Given the description of an element on the screen output the (x, y) to click on. 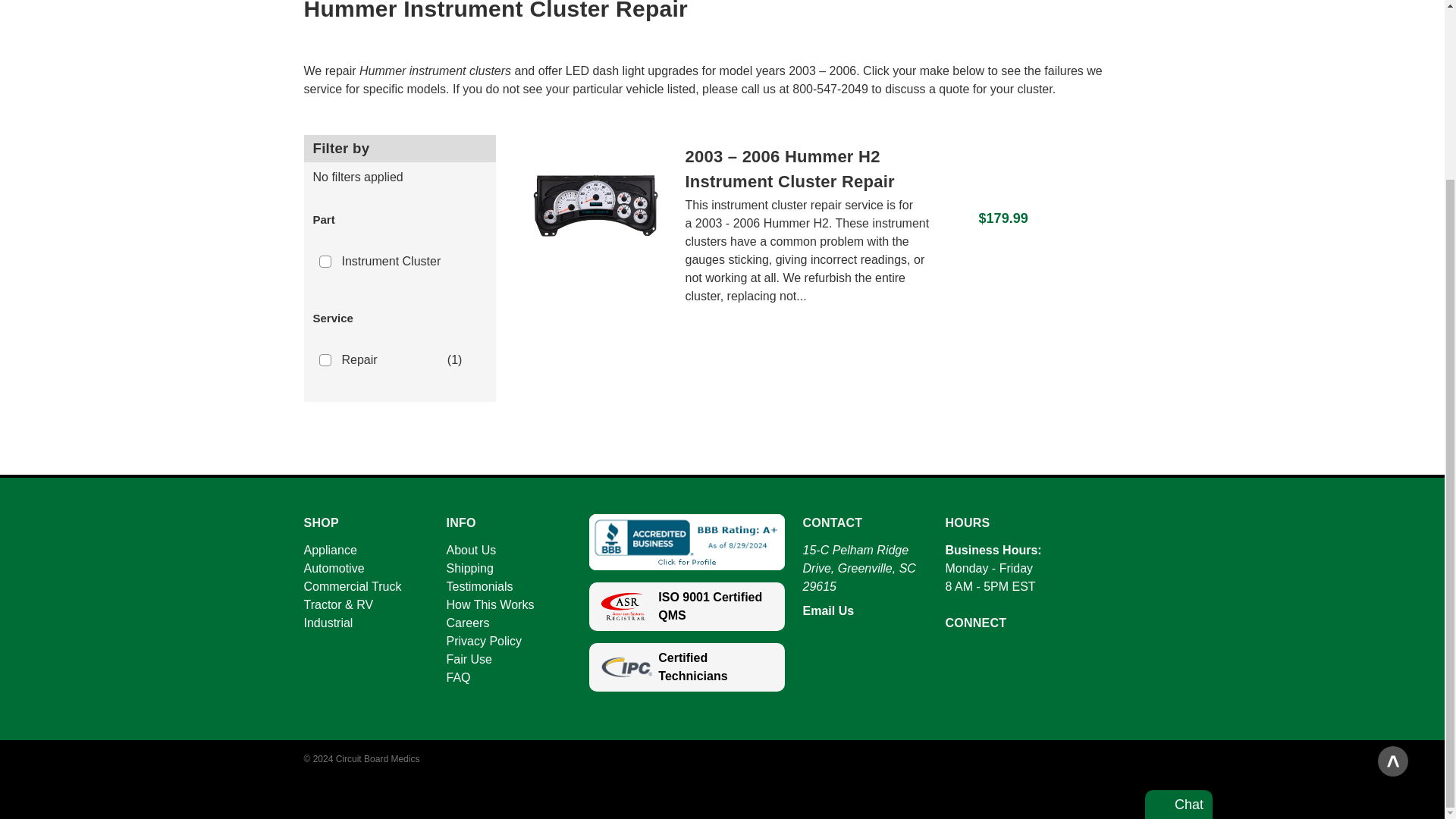
Youtube (982, 659)
Linkedin (1009, 659)
Hummer H2 Gauge Cluster Repair (595, 224)
Instagram (1038, 659)
Facebook (952, 659)
